Given the description of an element on the screen output the (x, y) to click on. 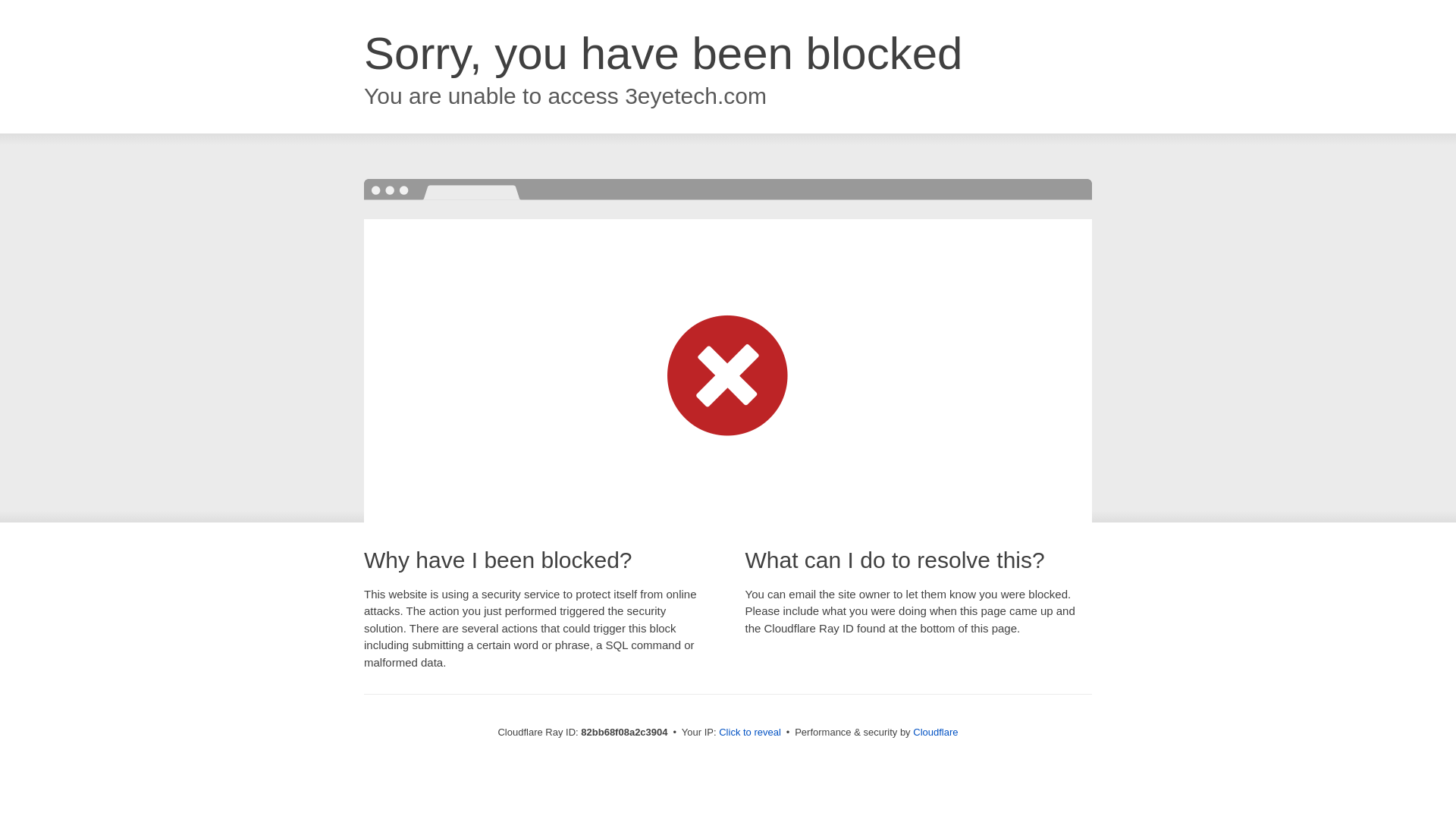
Click to reveal Element type: text (749, 732)
Cloudflare Element type: text (935, 731)
